Given the description of an element on the screen output the (x, y) to click on. 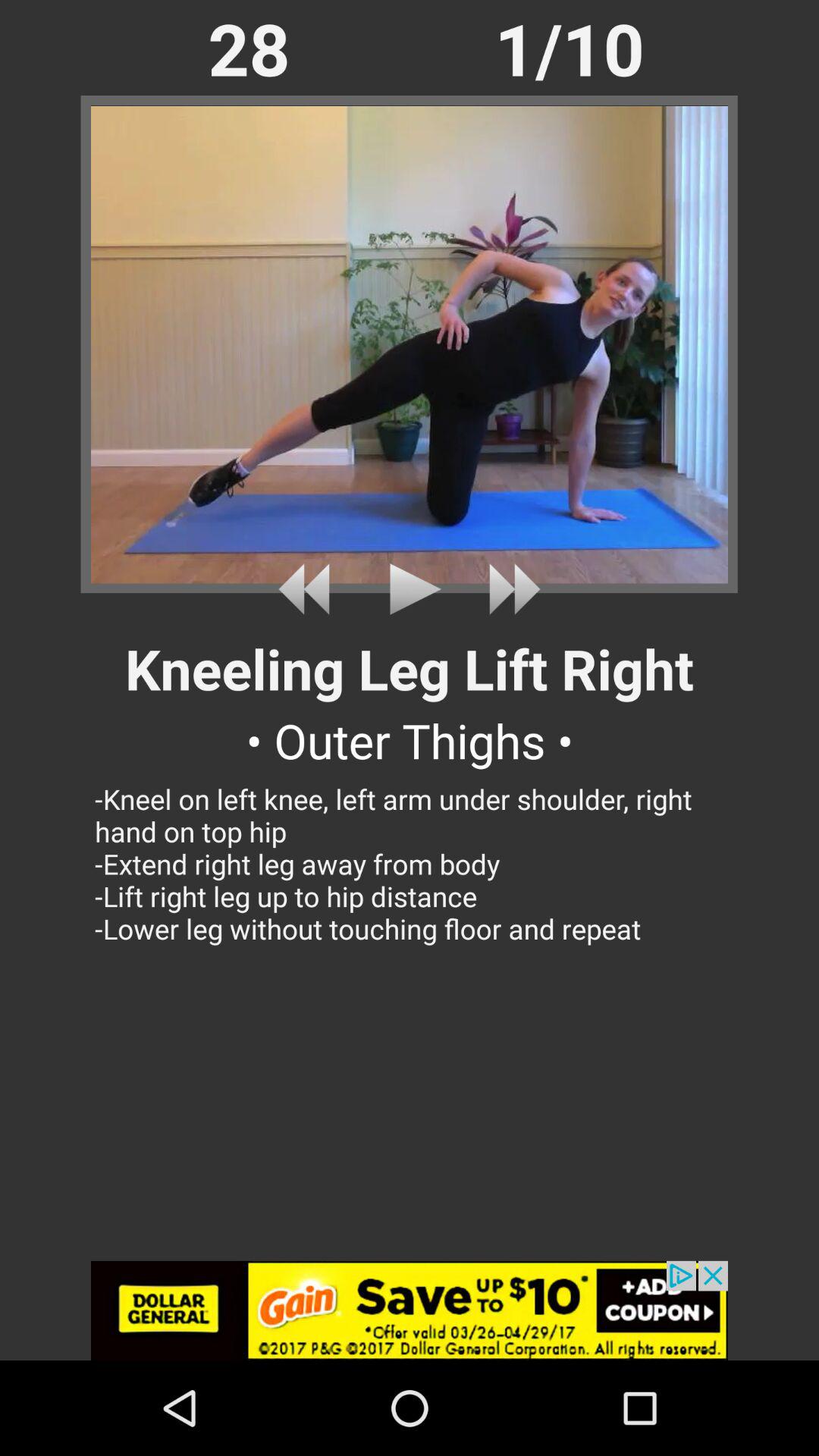
go to previous (309, 589)
